Given the description of an element on the screen output the (x, y) to click on. 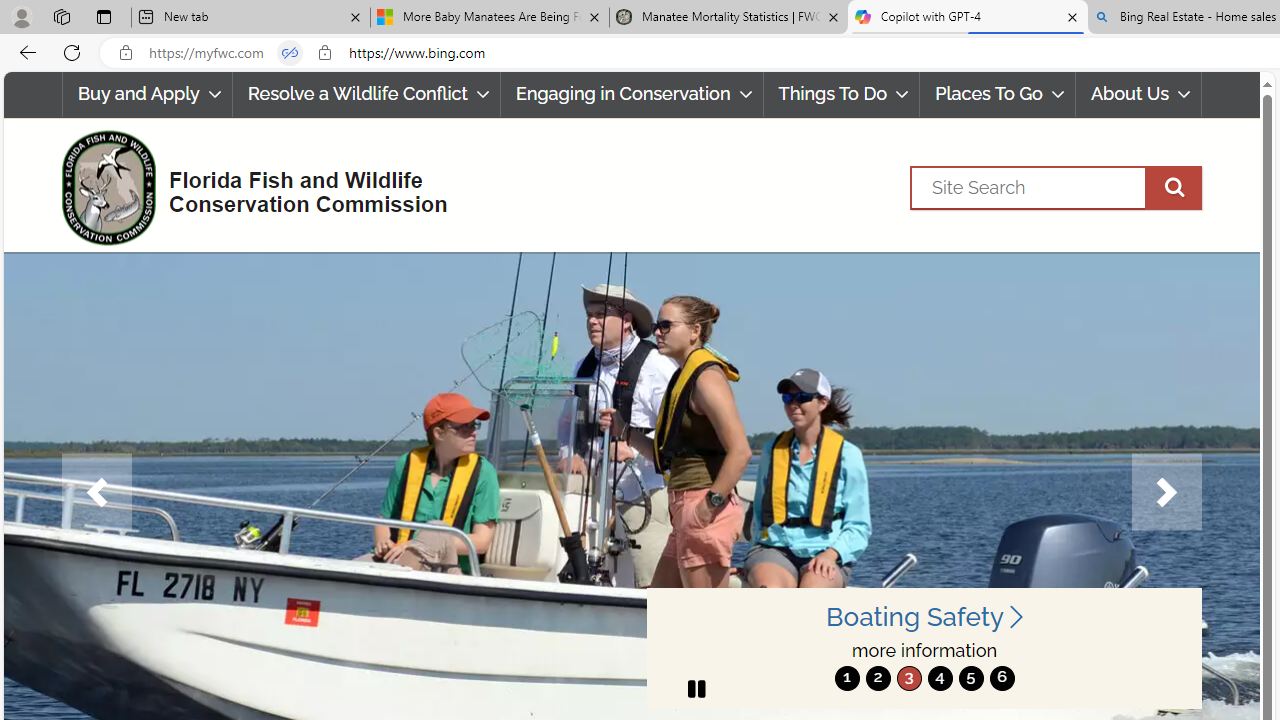
Resolve a Wildlife Conflict (365, 94)
Things To Do (841, 94)
Engaging in Conservation (632, 94)
move to slide 1 (847, 678)
execute site search (1173, 187)
Previous (96, 491)
FWC Logo Florida Fish and Wildlife Conservation Commission (246, 185)
Manatee Mortality Statistics | FWC (729, 17)
3 (908, 678)
Tabs in split screen (289, 53)
